Given the description of an element on the screen output the (x, y) to click on. 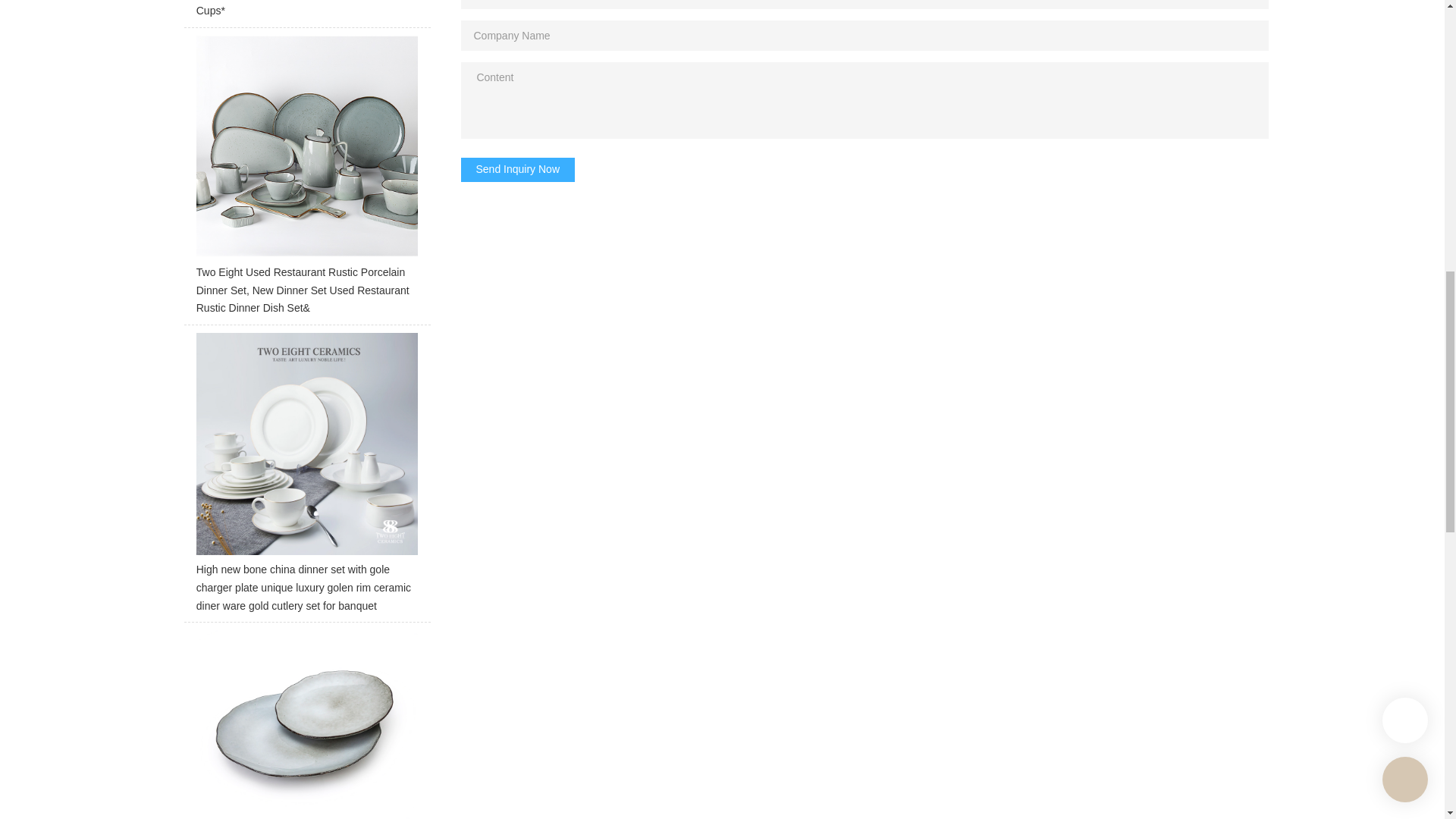
Send Inquiry Now (518, 169)
